Given the description of an element on the screen output the (x, y) to click on. 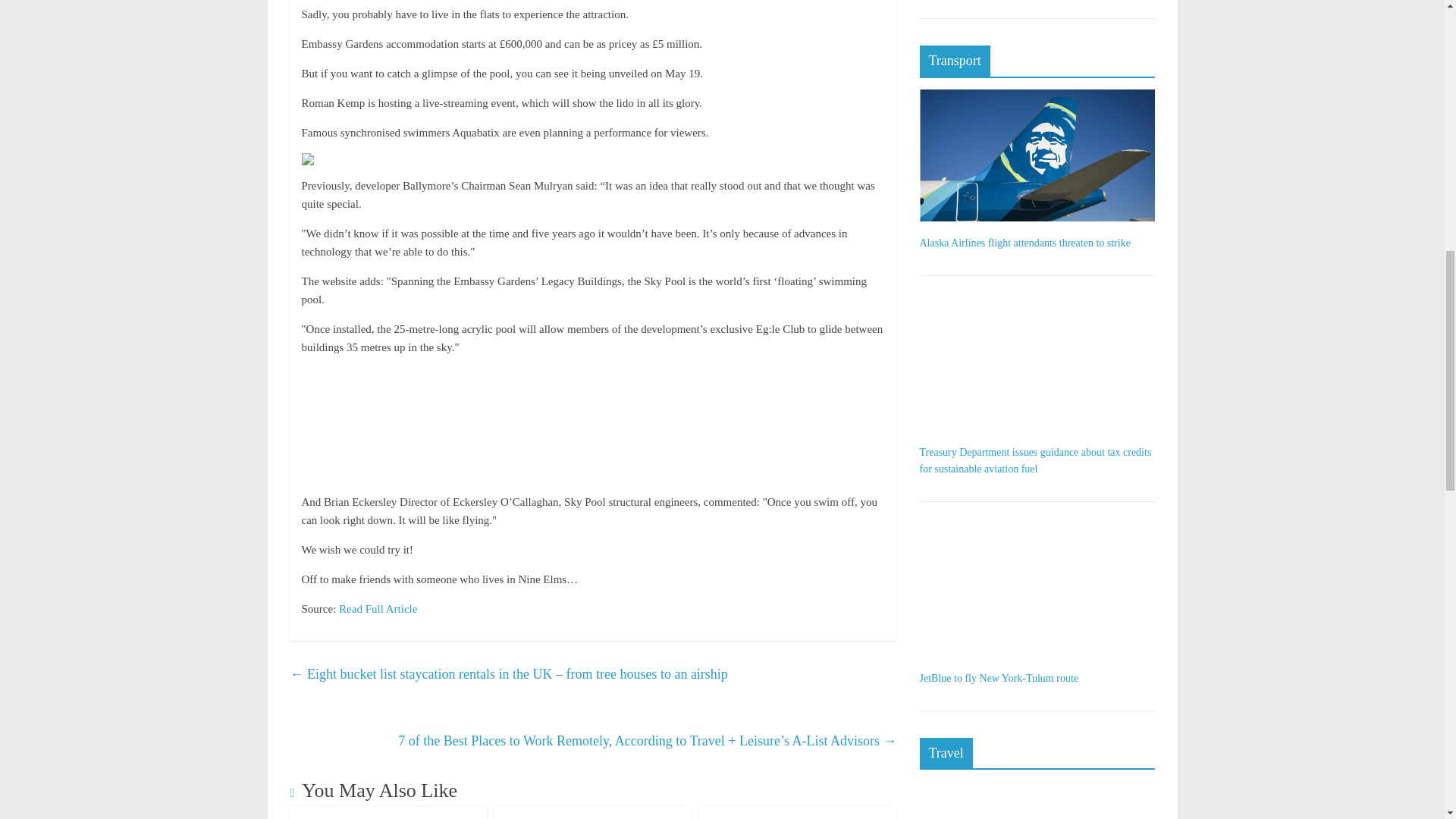
Travel: Cheapest days to fly according to an expert (593, 814)
Read Full Article (377, 608)
